Given the description of an element on the screen output the (x, y) to click on. 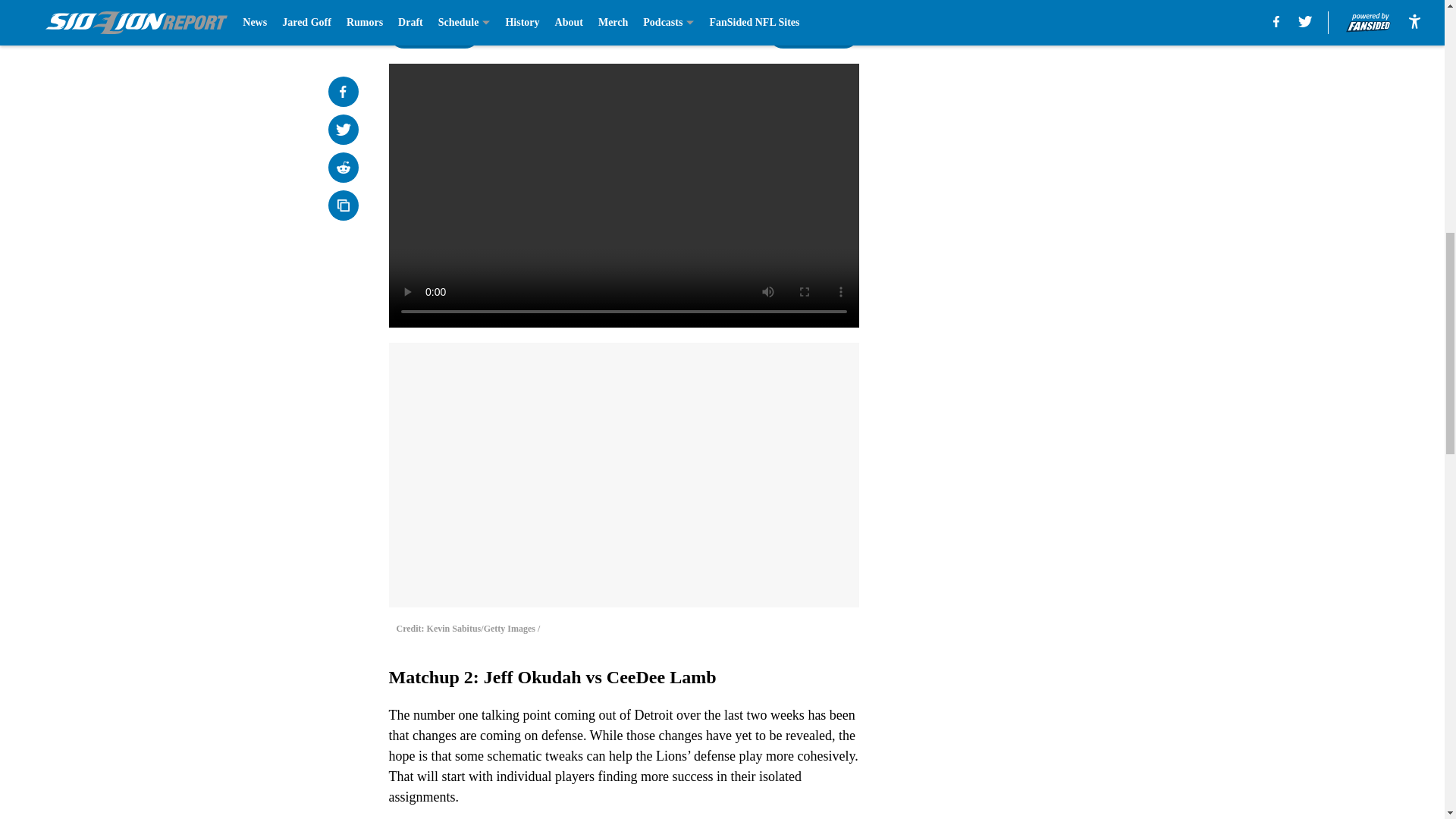
Next (813, 33)
3rd party ad content (1047, 332)
Prev (433, 33)
3rd party ad content (1047, 113)
